Given the description of an element on the screen output the (x, y) to click on. 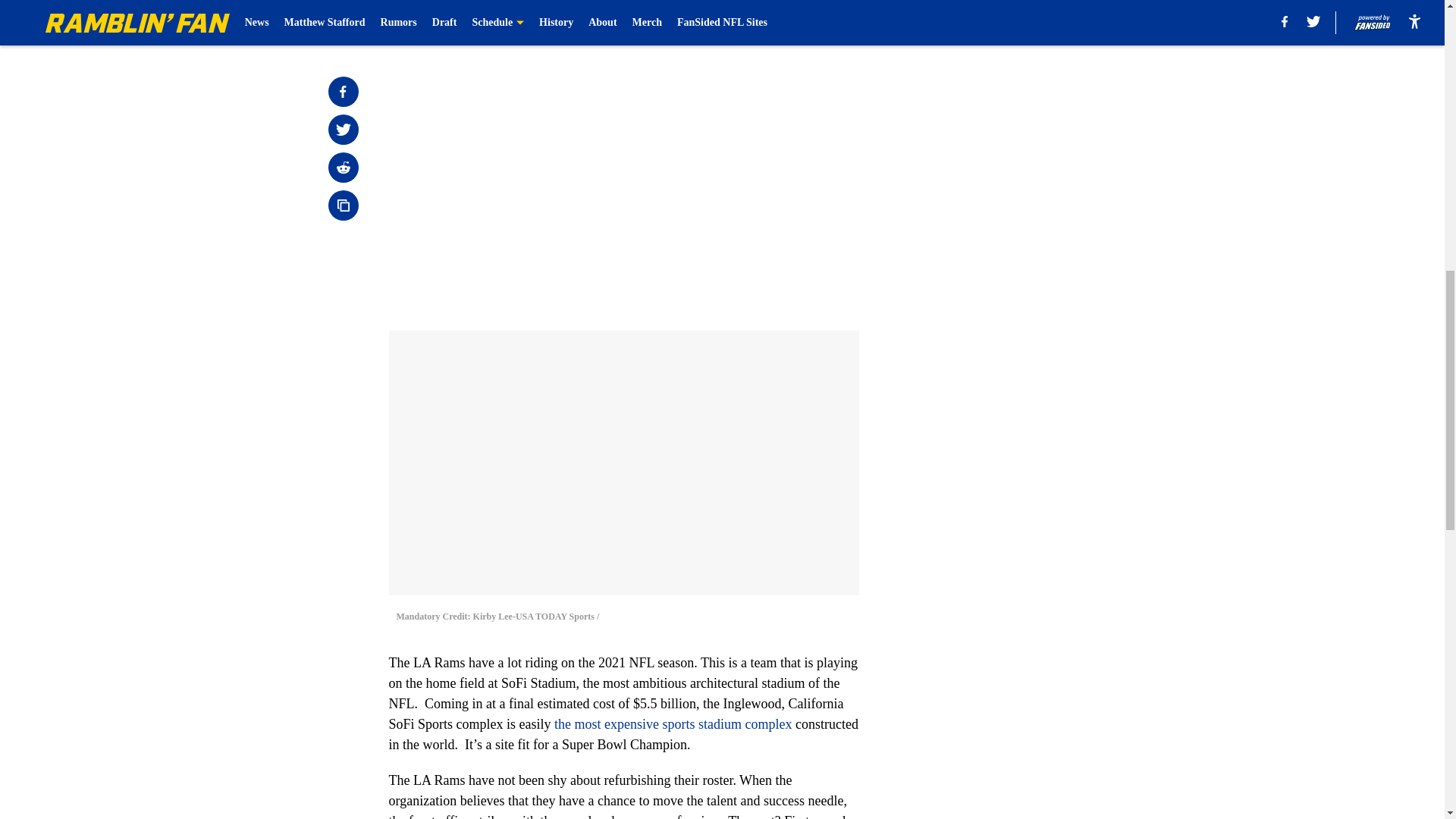
the most expensive sports stadium complex (671, 724)
Next (813, 20)
Prev (433, 20)
